Given the description of an element on the screen output the (x, y) to click on. 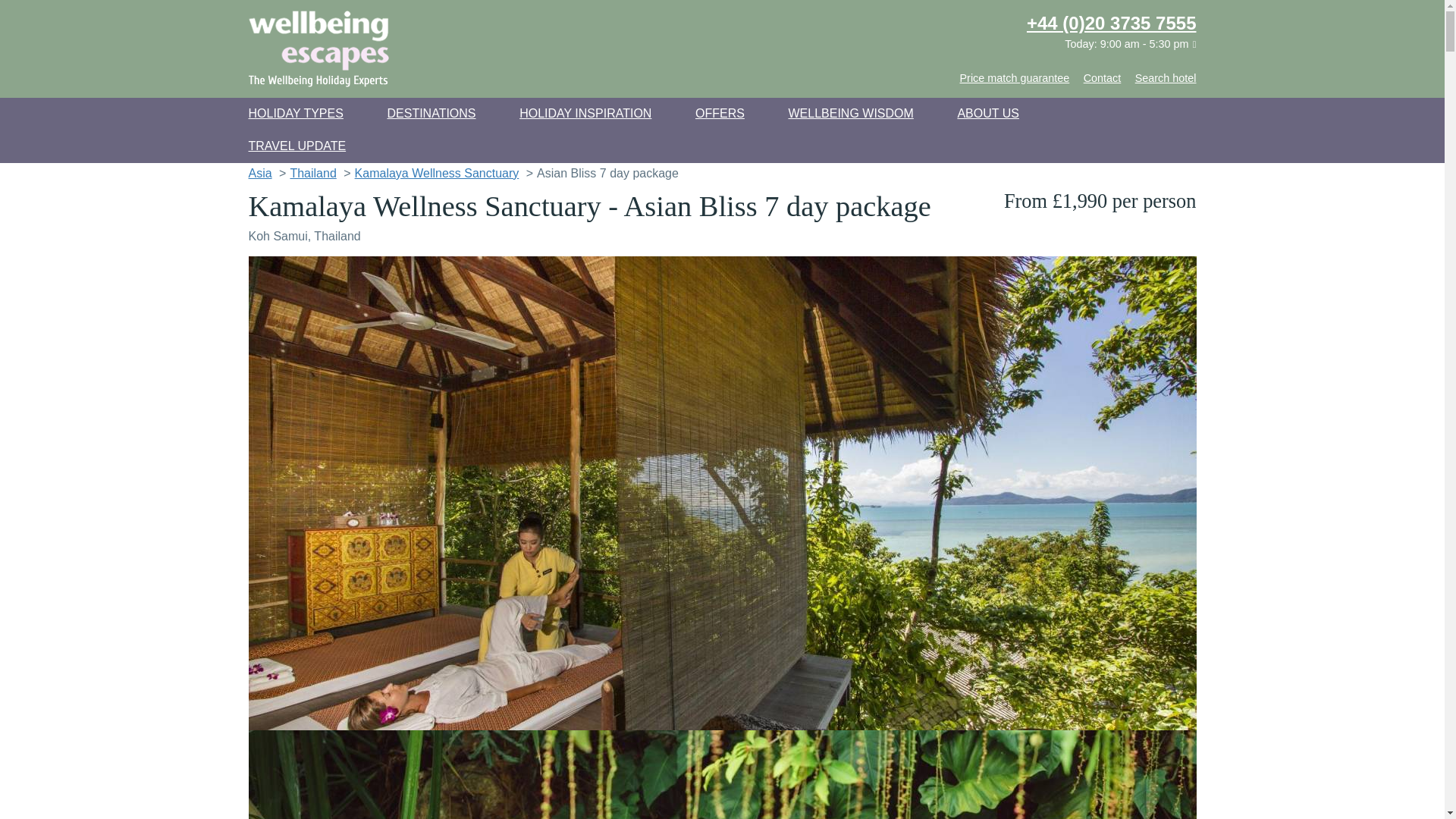
Kamalaya Wellness Sanctuary (437, 173)
DESTINATIONS (431, 113)
Kamalaya Wellness Sanctuary (722, 774)
Thailand (312, 173)
TRAVEL UPDATE (297, 145)
Contact (1107, 78)
HOLIDAY INSPIRATION (584, 113)
ABOUT US (987, 113)
Search hotel (1165, 78)
